Given the description of an element on the screen output the (x, y) to click on. 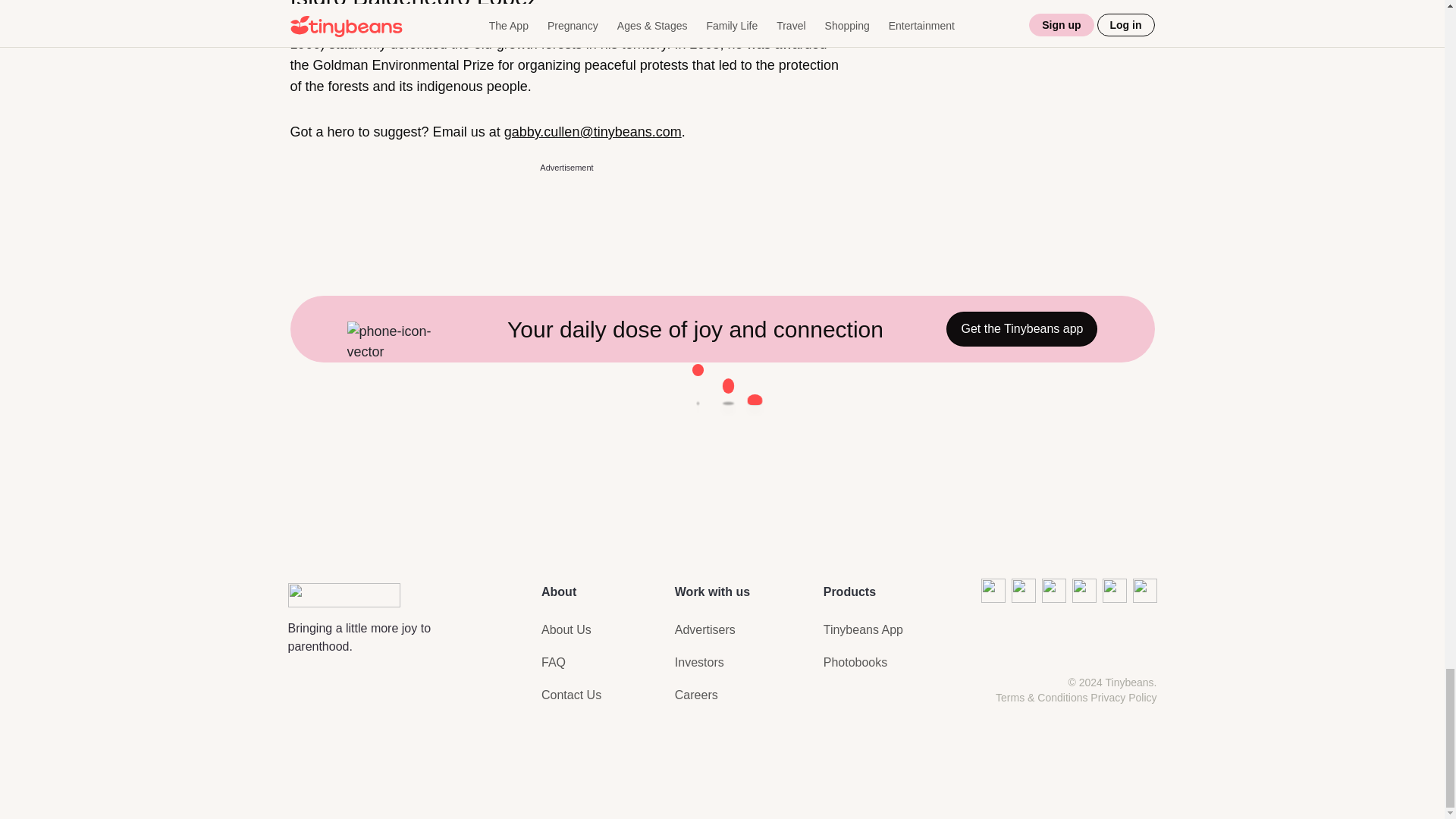
Get the Tinybeans app (1021, 329)
